Given the description of an element on the screen output the (x, y) to click on. 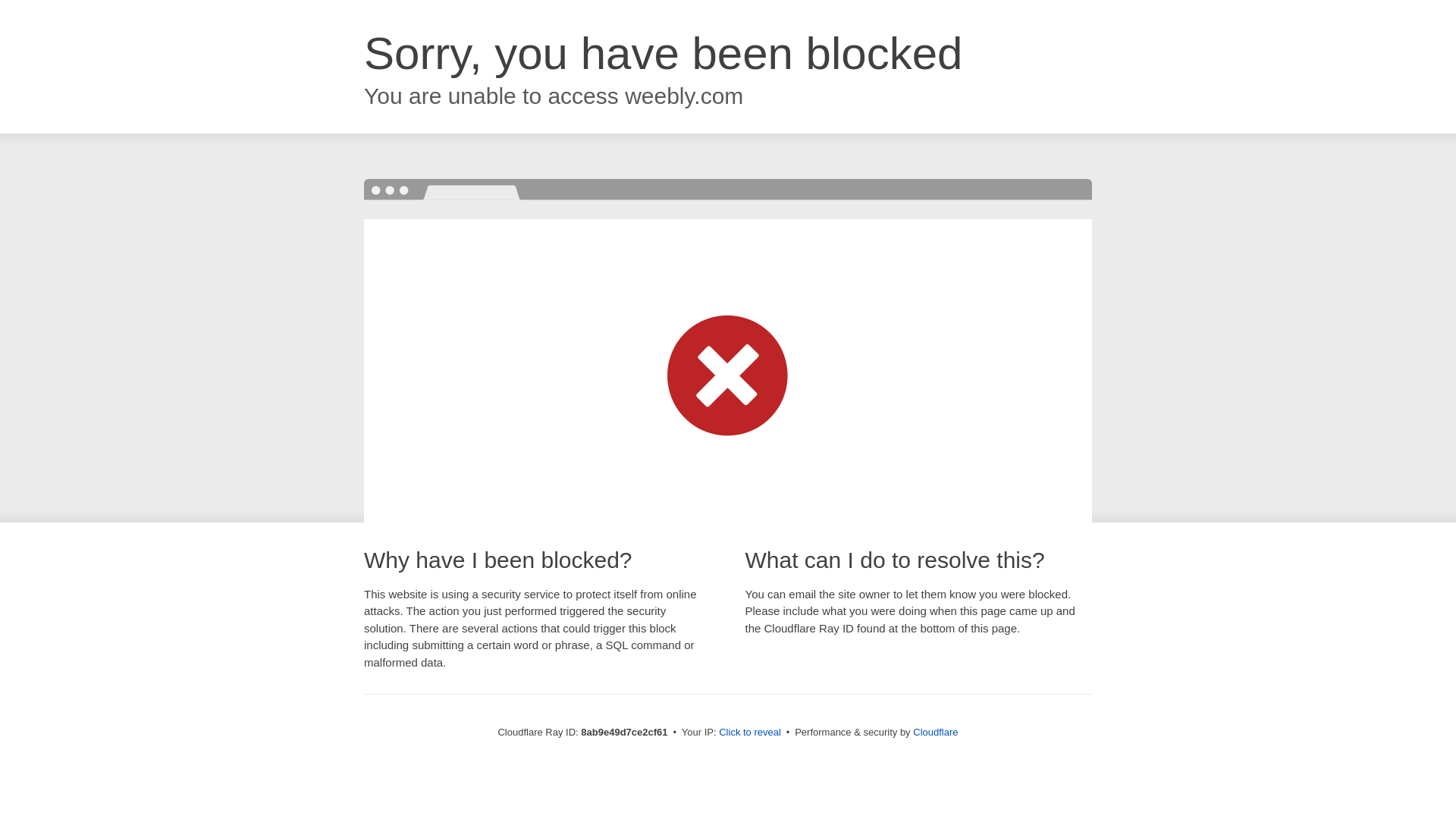
Cloudflare (935, 731)
Click to reveal (749, 732)
